Given the description of an element on the screen output the (x, y) to click on. 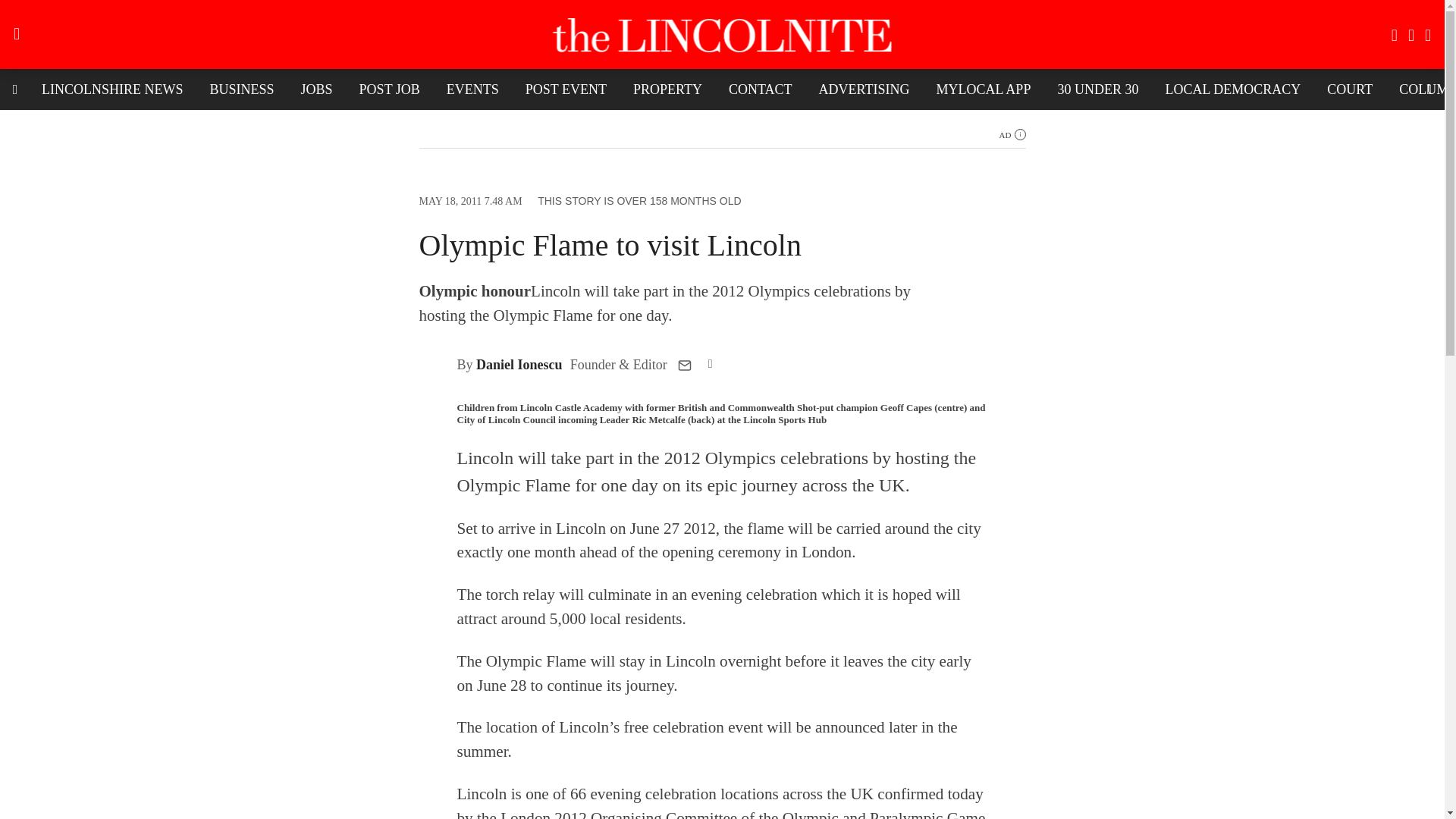
POST EVENT (565, 88)
30 UNDER 30 (1097, 88)
CONTACT (760, 88)
PROPERTY (667, 88)
JOBS (316, 88)
POST JOB (388, 88)
MYLOCAL APP (983, 88)
COURT (1350, 88)
BUSINESS (241, 88)
